Given the description of an element on the screen output the (x, y) to click on. 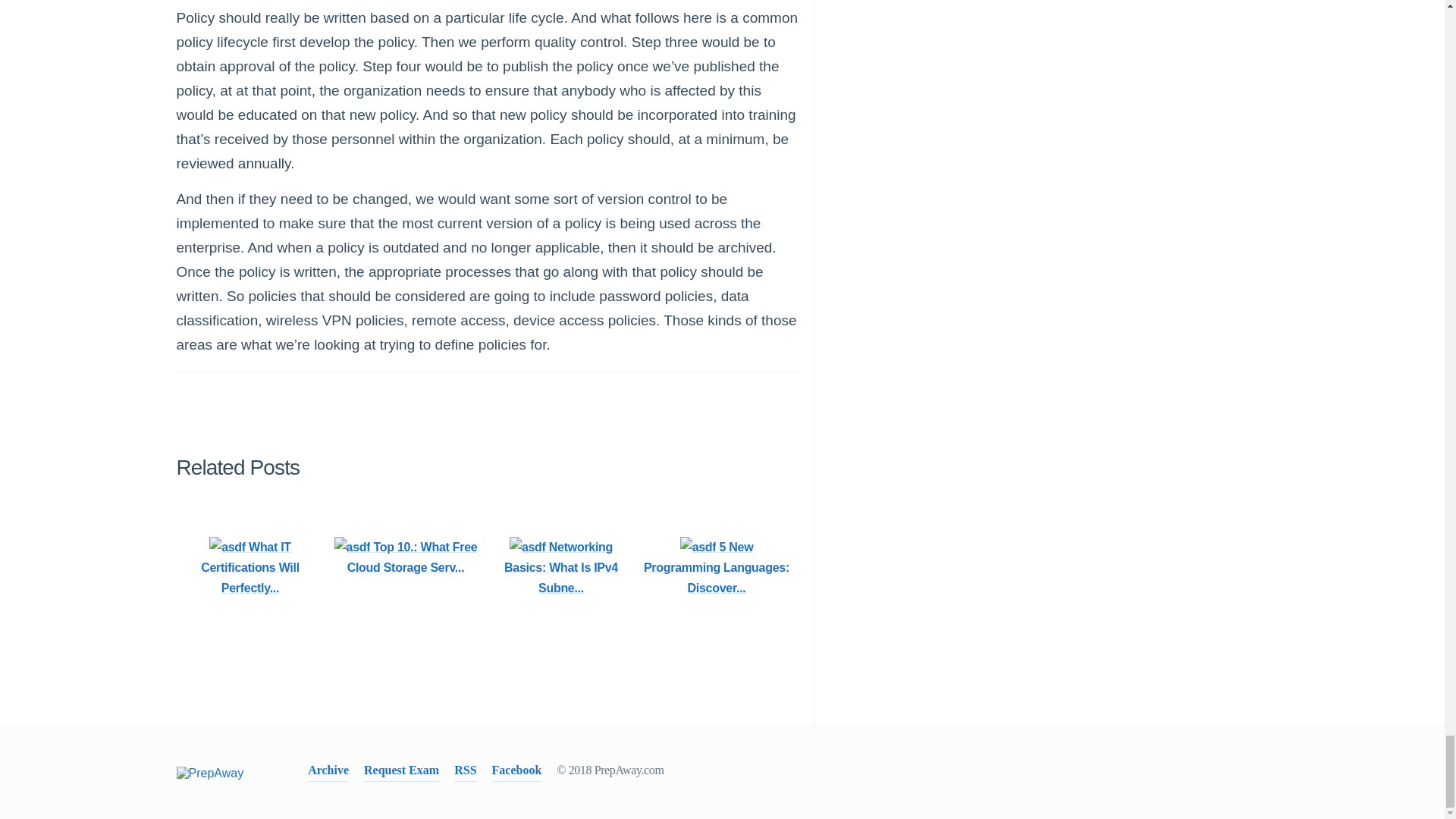
Top 10.: What Free Cloud Storage Serv... (405, 557)
Networking Basics: What Is IPv4 Subne... (560, 567)
5 New Programming Languages: Discover... (716, 567)
What IT Certifications Will Perfectly... (249, 567)
